Given the description of an element on the screen output the (x, y) to click on. 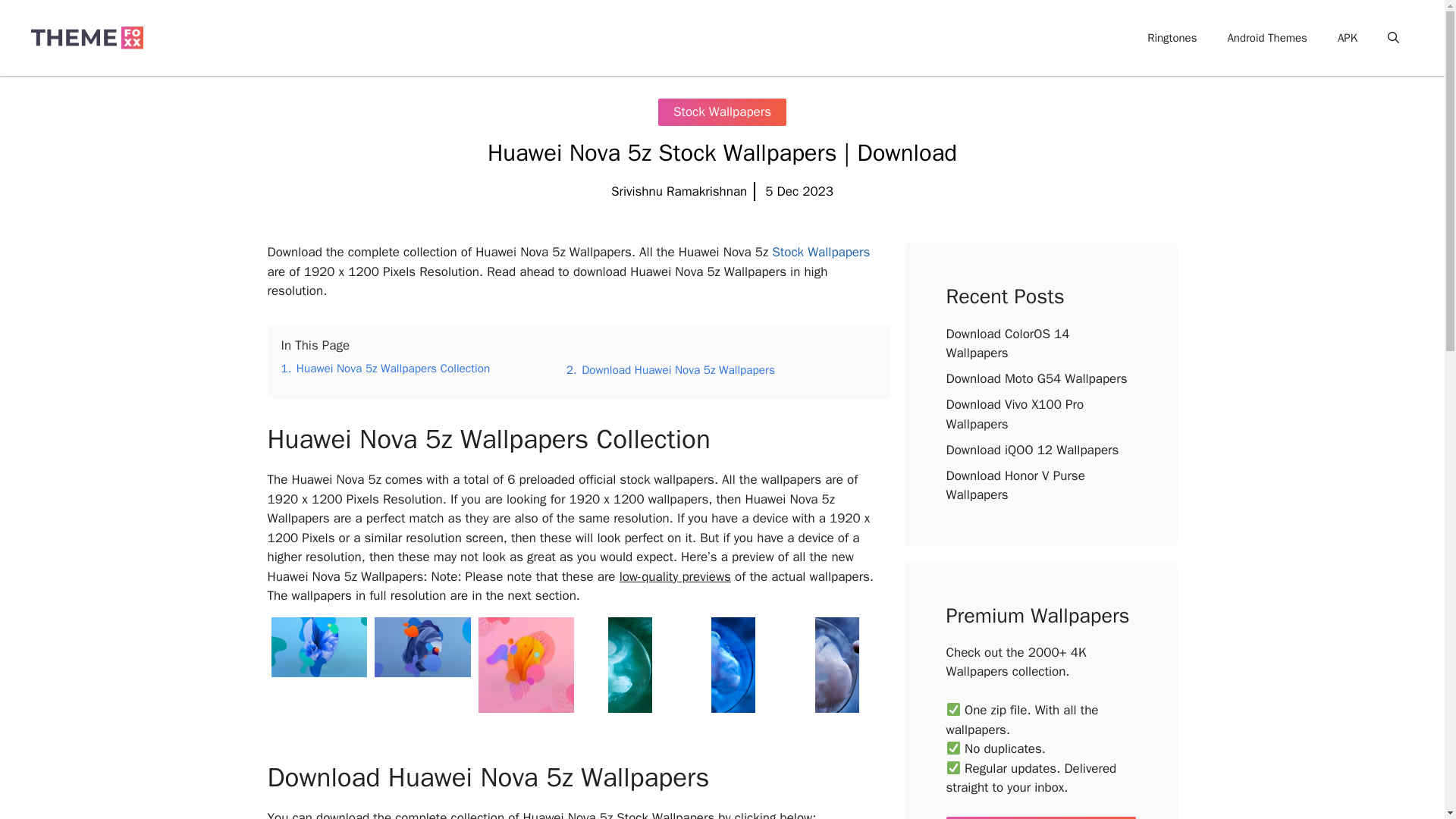
1. Huawei Nova 5z Wallpapers Collection (385, 368)
Stock Wallpapers (1073, 37)
Stock Wallpapers (820, 252)
Download Honor V Purse Wallpapers (1015, 485)
Download ColorOS 14 Wallpapers (1008, 343)
2. Download Huawei Nova 5z Wallpapers (670, 369)
Download Moto G54 Wallpapers (1036, 378)
Stock Wallpapers (722, 112)
Stock Wallpapers (820, 252)
APK (1347, 37)
